Given the description of an element on the screen output the (x, y) to click on. 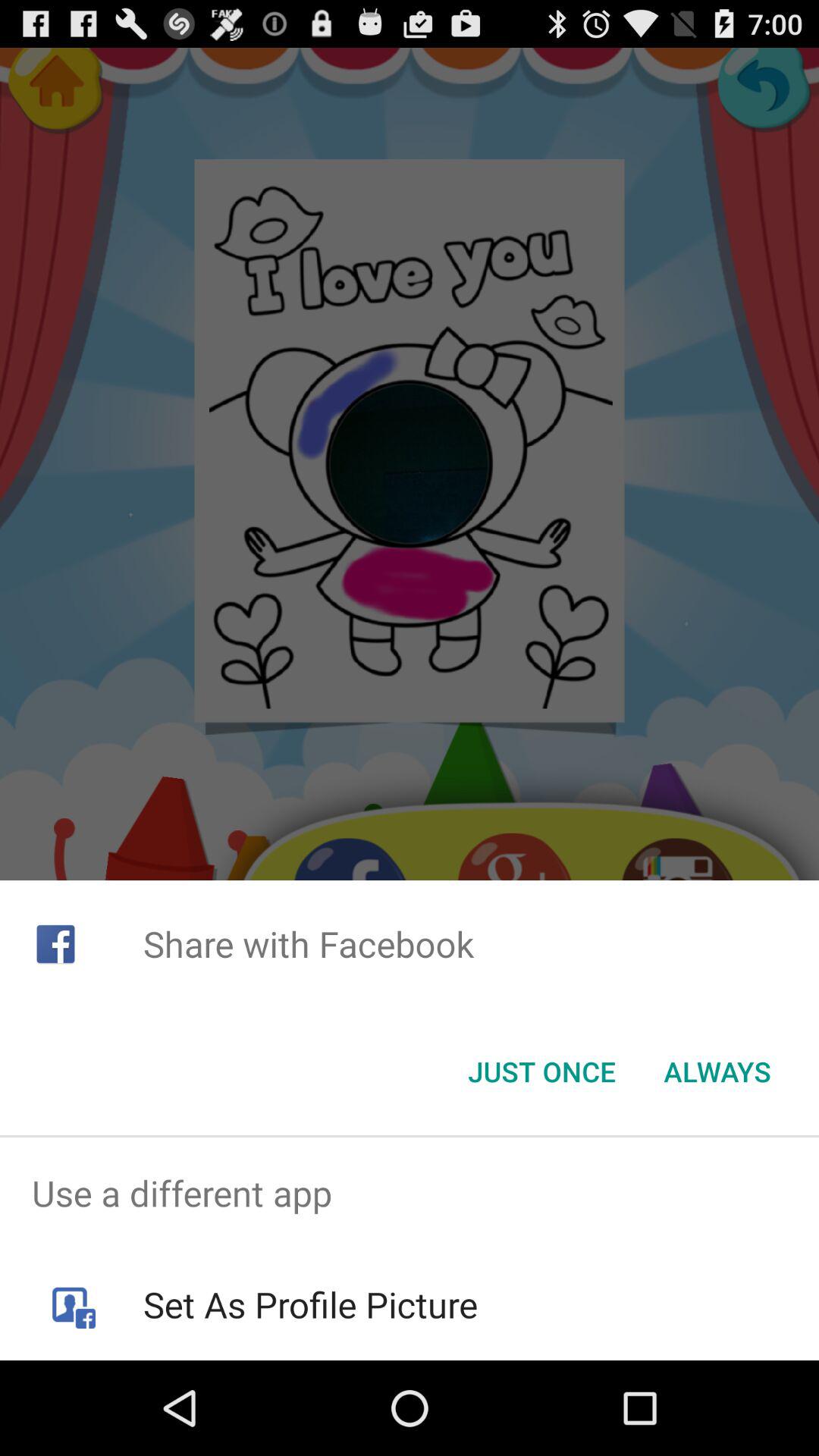
tap the item below share with facebook (541, 1071)
